Given the description of an element on the screen output the (x, y) to click on. 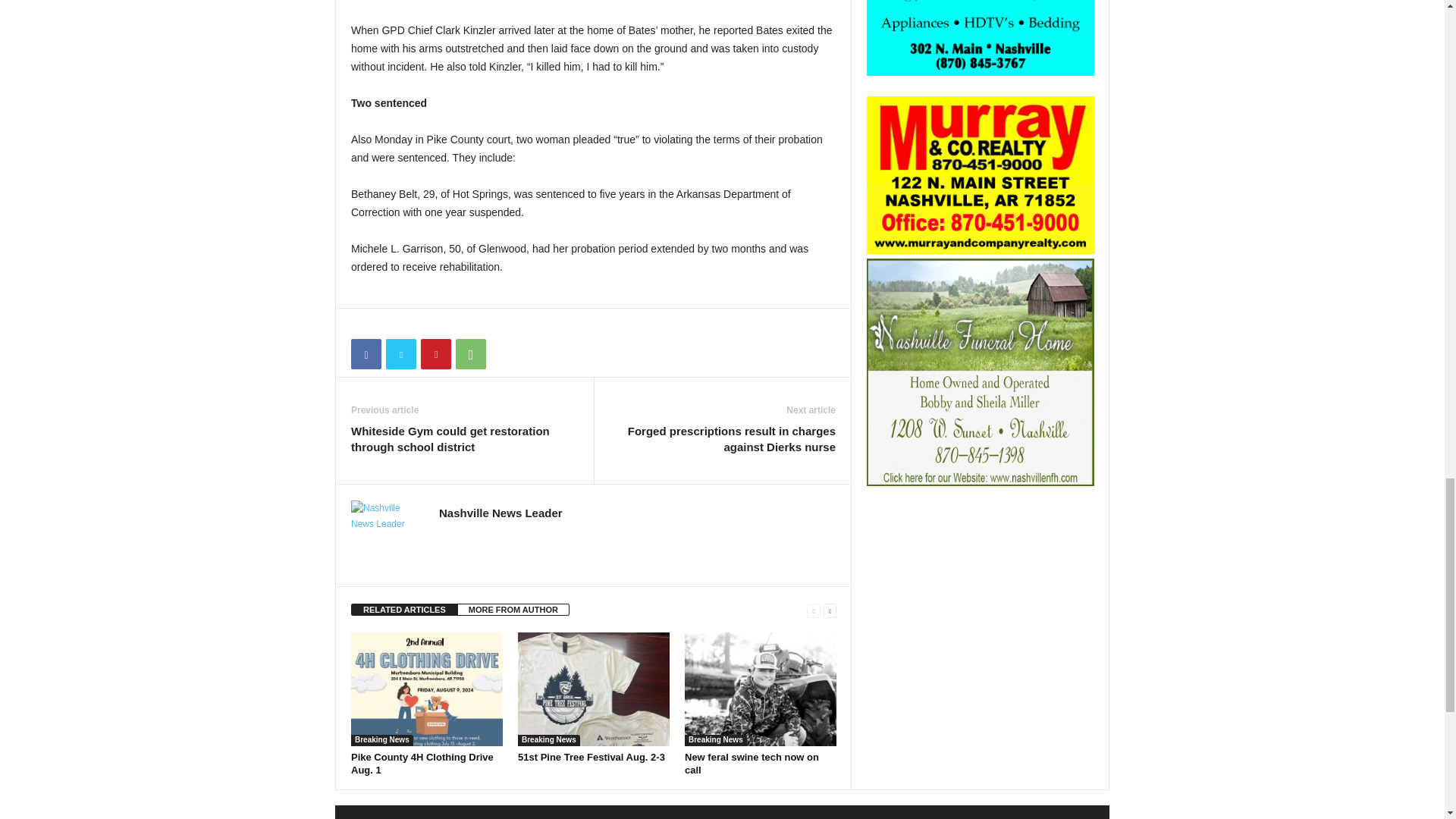
Facebook (365, 354)
Pinterest (435, 354)
bottomFacebookLike (390, 324)
WhatsApp (470, 354)
Twitter (400, 354)
